Given the description of an element on the screen output the (x, y) to click on. 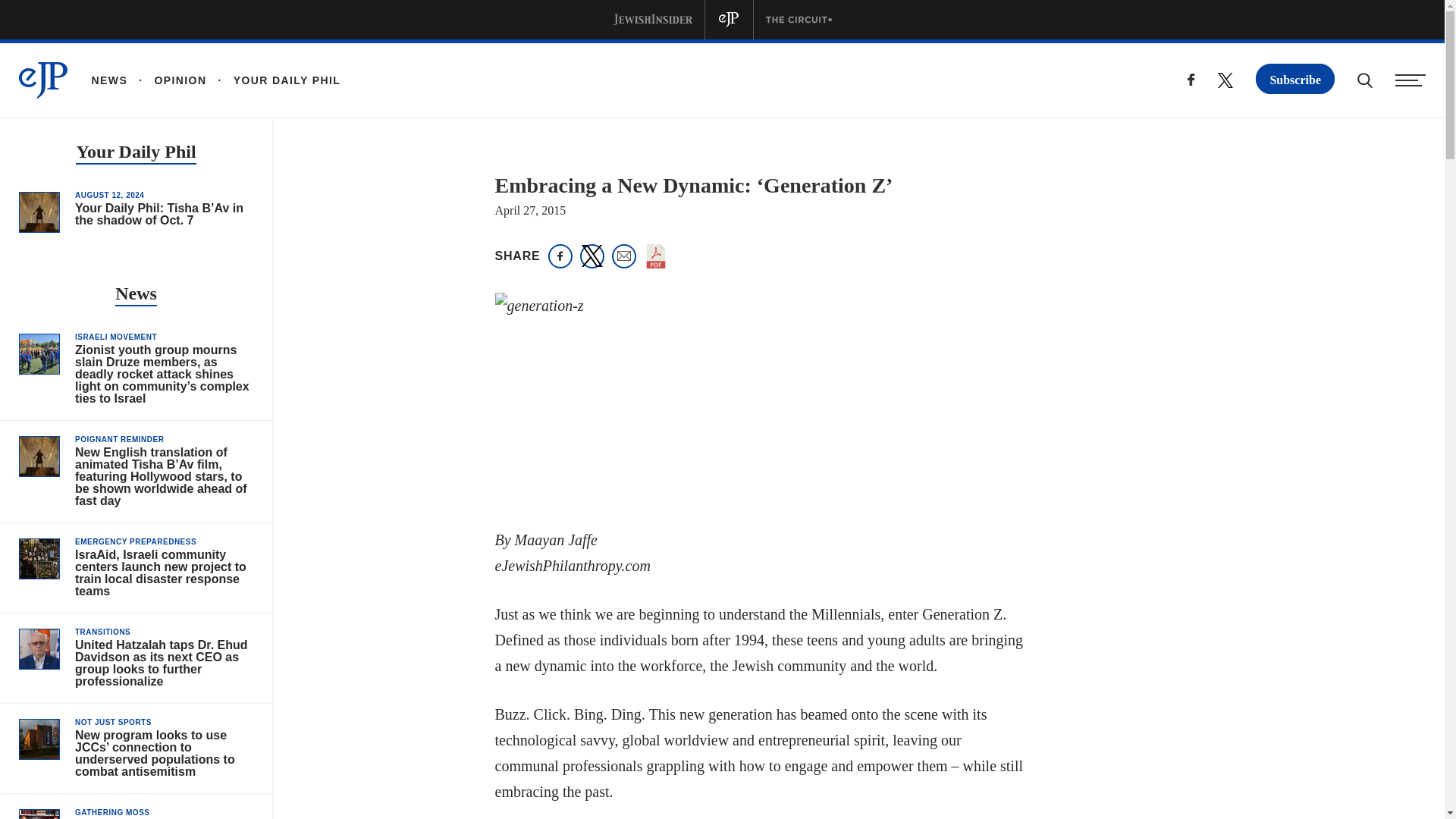
Your Daily Phil (135, 153)
News (136, 295)
NEWS (109, 80)
OPINION (167, 80)
Subscribe (1295, 78)
YOUR DAILY PHIL (273, 80)
